Given the description of an element on the screen output the (x, y) to click on. 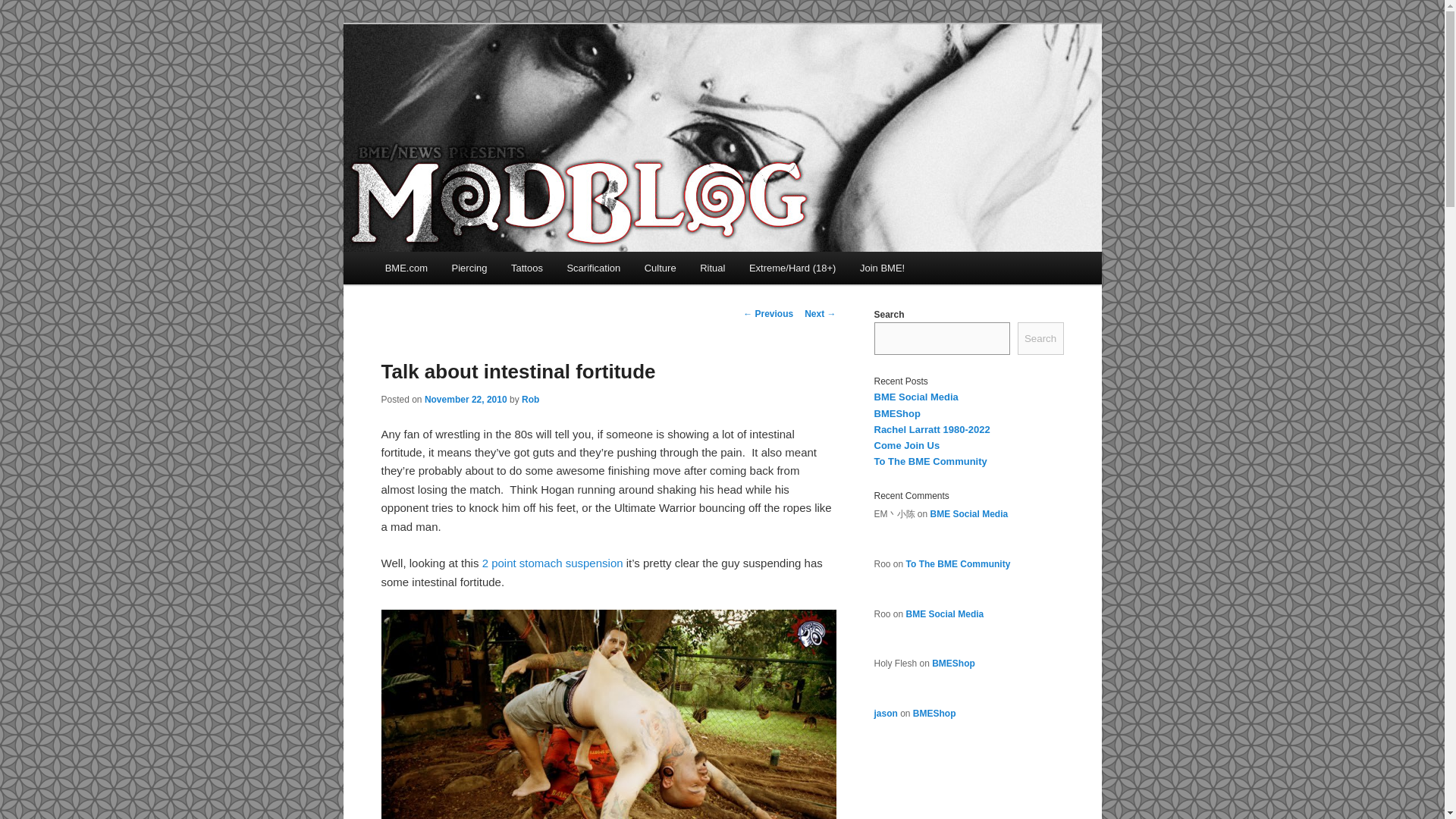
Scarification (592, 267)
Culture (659, 267)
Browse Our Culture Galleries (659, 267)
Browse Our Ritual Galleries (711, 267)
2 point stomach suspension (552, 562)
Join BME Now! (882, 267)
Tattoos (526, 267)
BME.com (405, 267)
Piercing (469, 267)
